Given the description of an element on the screen output the (x, y) to click on. 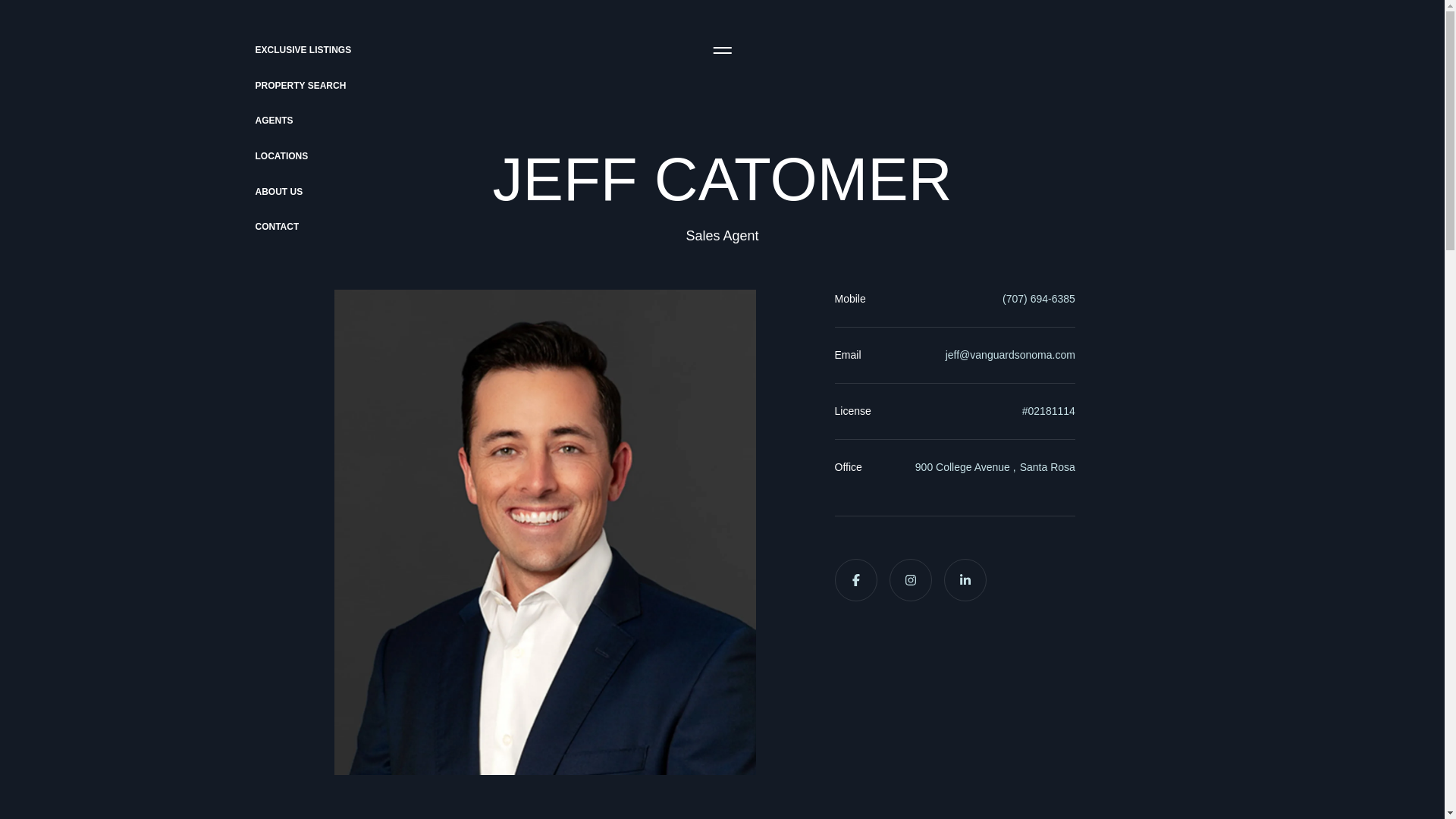
EXCLUSIVE LISTINGS (208, 49)
CONTACT (261, 225)
Side Menu (721, 49)
